Given the description of an element on the screen output the (x, y) to click on. 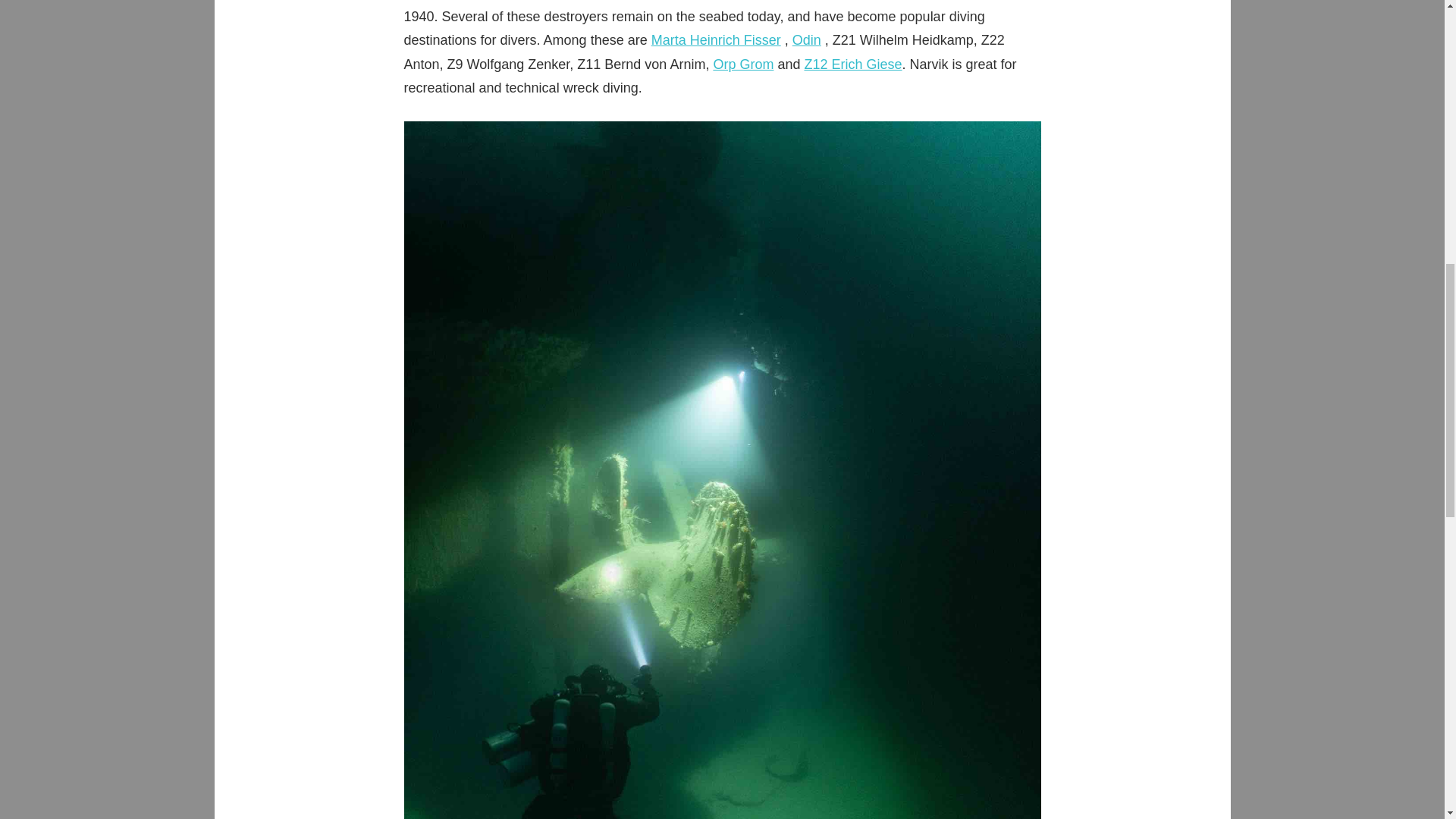
Odin (806, 39)
Z12 Erich Giese (852, 64)
Orp Grom (743, 64)
Marta Heinrich Fisser (715, 39)
